Given the description of an element on the screen output the (x, y) to click on. 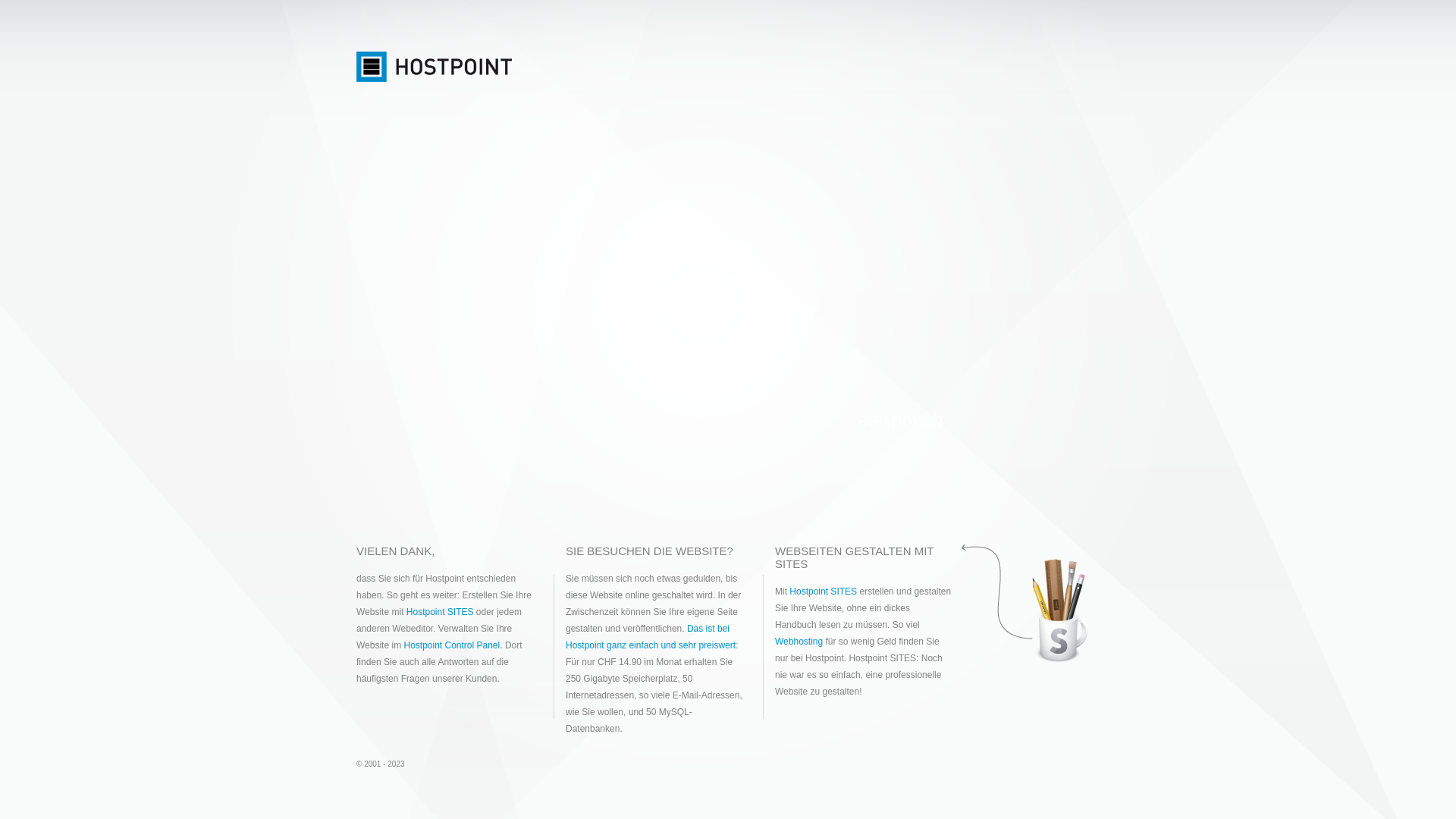
Das ist bei Hostpoint ganz einfach und sehr preiswert Element type: text (650, 636)
Hostpoint SITES Element type: text (822, 591)
Hostpoint Control Panel Element type: text (451, 645)
Webhosting Element type: text (798, 641)
Hostpoint SITES Element type: text (439, 611)
